Given the description of an element on the screen output the (x, y) to click on. 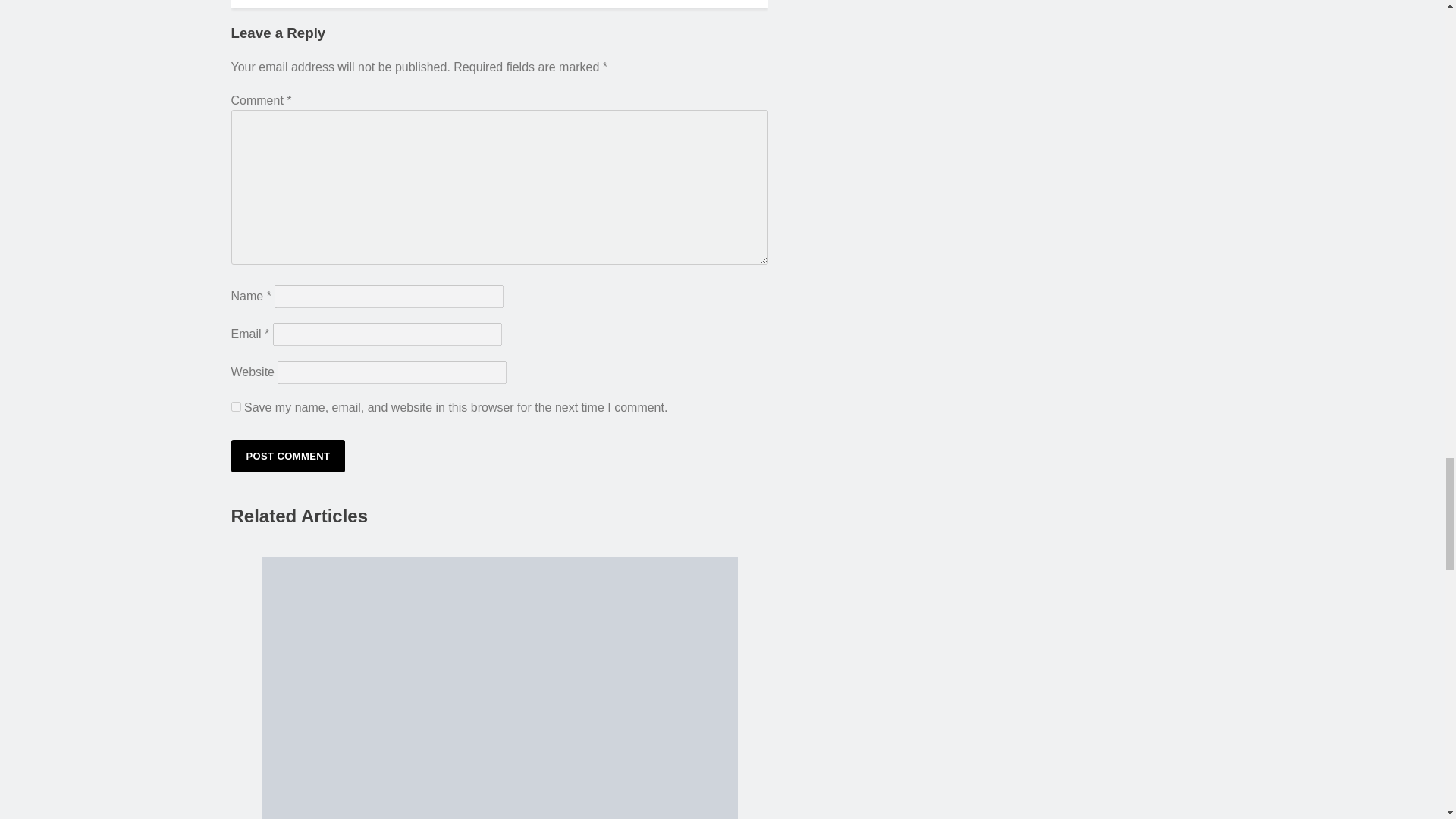
yes (235, 406)
Post Comment (287, 455)
Post Comment (287, 455)
